Given the description of an element on the screen output the (x, y) to click on. 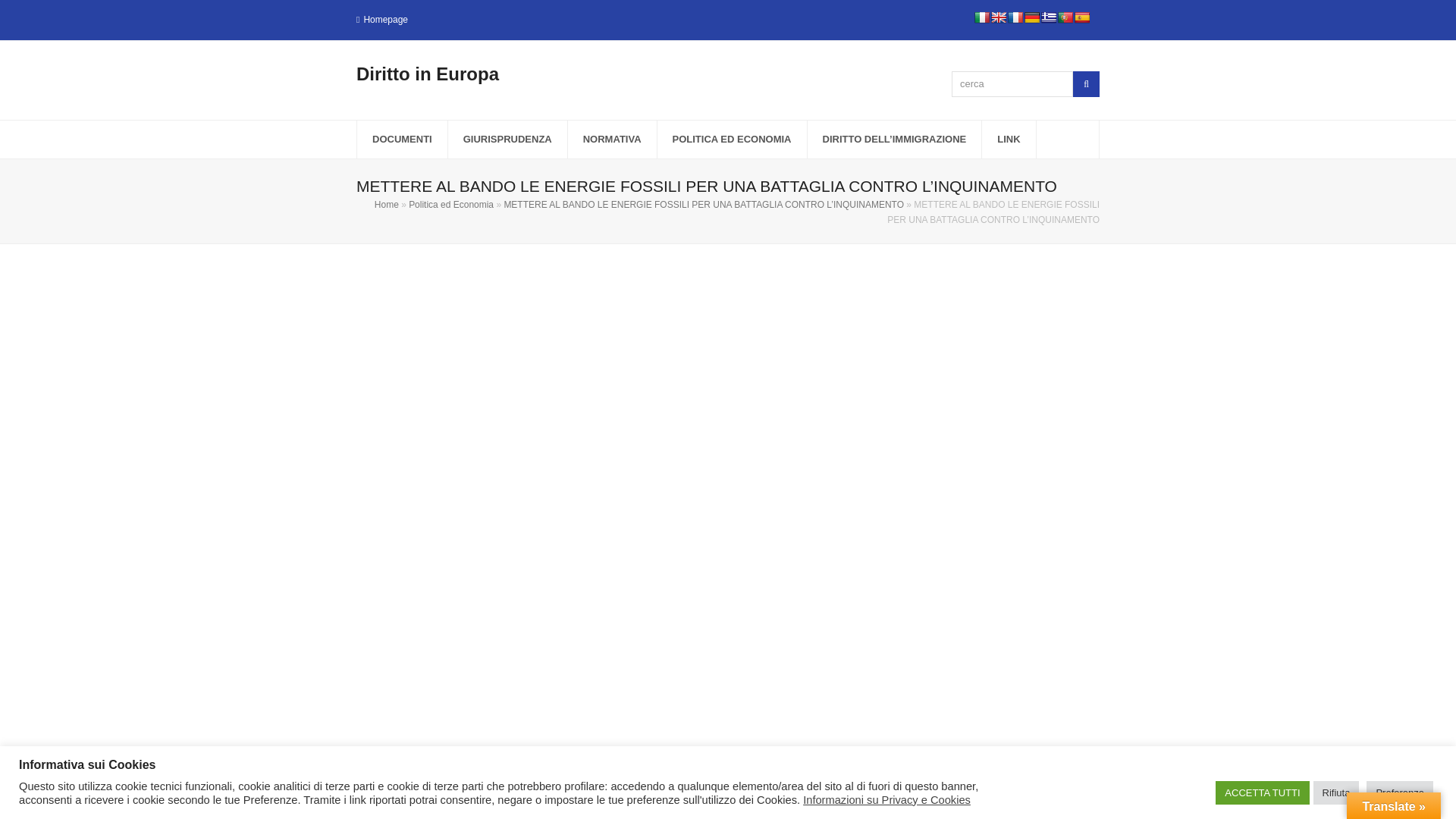
Portuguese (1065, 17)
French (1015, 17)
Homepage (384, 18)
DOCUMENTI (401, 139)
NORMATIVA (611, 139)
Spanish (1081, 17)
Home (386, 204)
Cerca (1086, 84)
Homepage (619, 793)
Preferenze (1399, 792)
Informazioni su Privacy e Cookies (887, 799)
German (1032, 17)
Informativa sulla Privacy e Cookies (787, 793)
Rifiuta (1336, 792)
POLITICA ED ECONOMIA (732, 139)
